Given the description of an element on the screen output the (x, y) to click on. 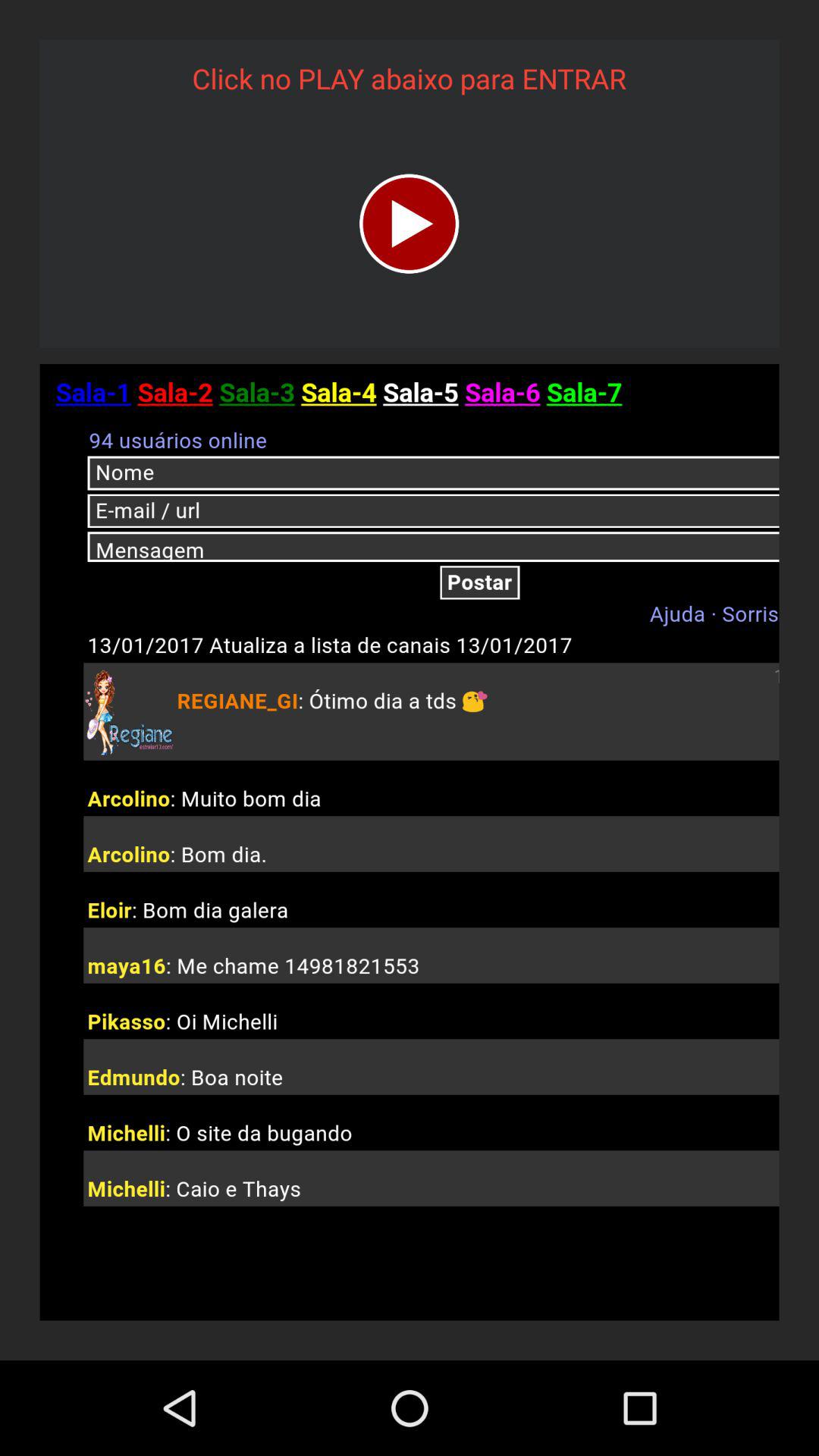
click to play (408, 223)
